Given the description of an element on the screen output the (x, y) to click on. 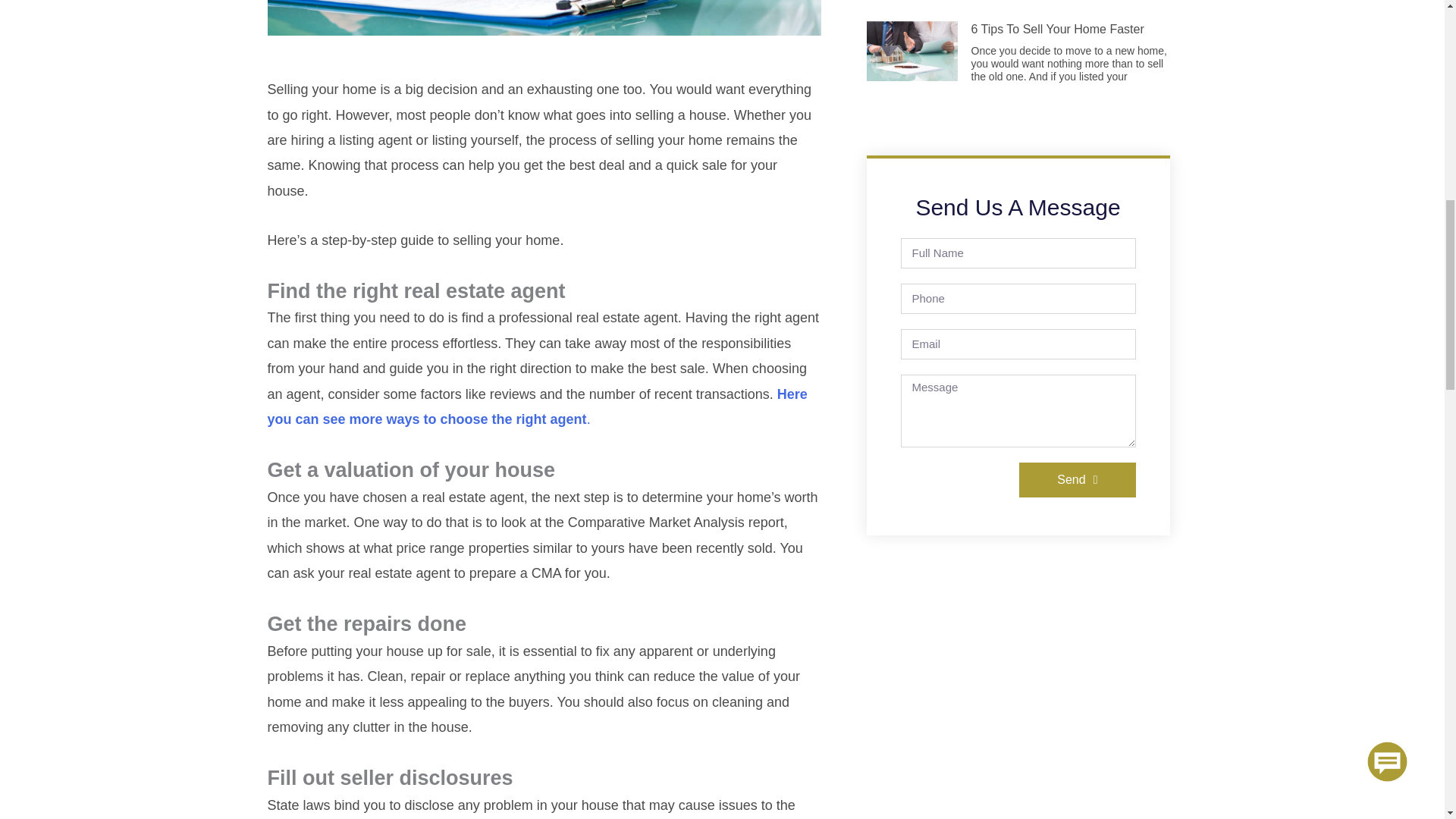
Here you can see more ways to choose the right agent. (536, 406)
6 Tips To Sell Your Home Faster (1056, 29)
Send (1077, 479)
